Given the description of an element on the screen output the (x, y) to click on. 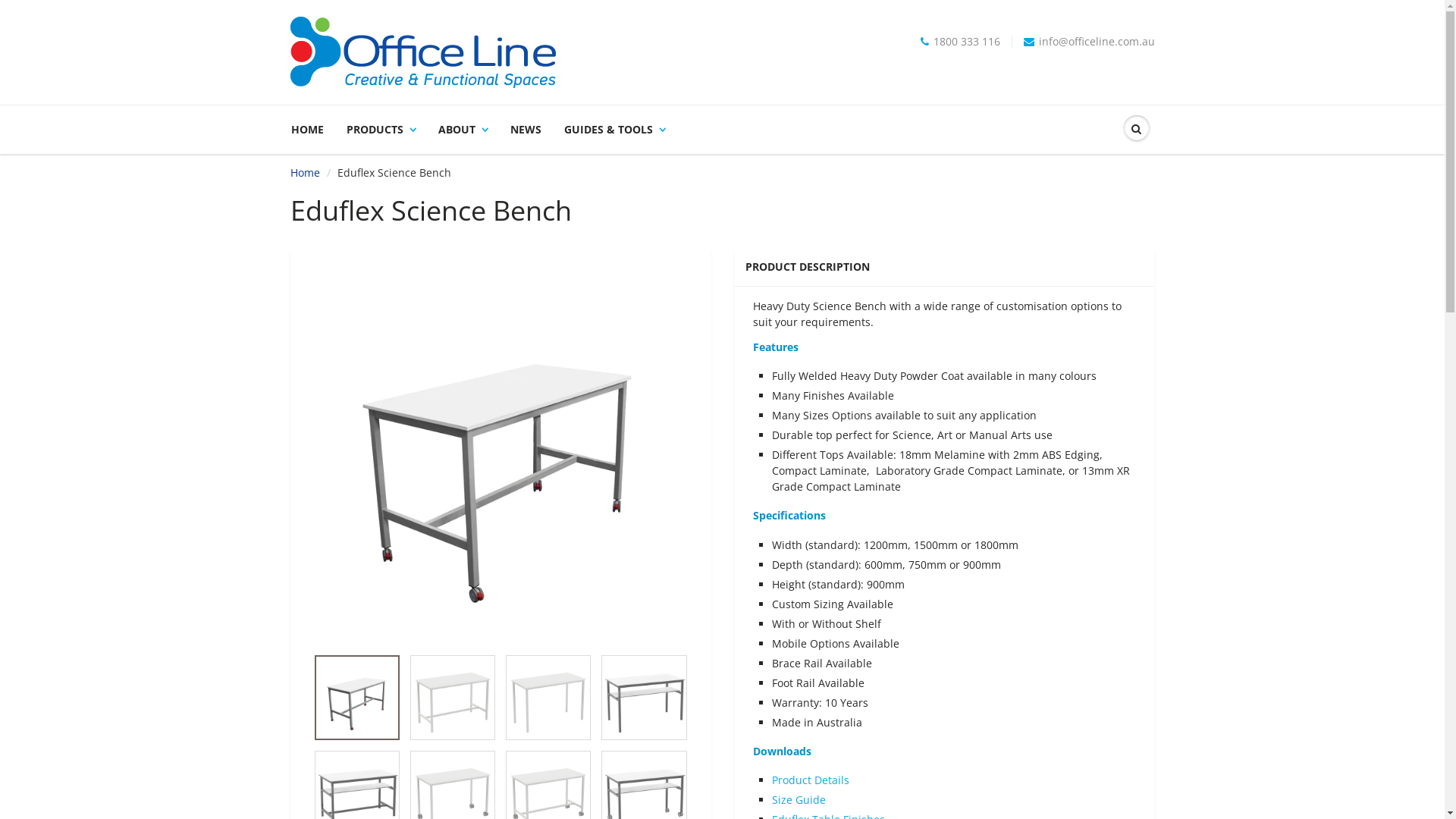
GUIDES & TOOLS Element type: text (613, 129)
Product Details Element type: text (810, 779)
NEWS Element type: text (525, 129)
Eduflex Science Bench Element type: hover (500, 454)
HOME Element type: text (313, 129)
Home Element type: text (304, 172)
Size Guide Element type: text (798, 799)
ABOUT Element type: text (462, 129)
1800 333 116 Element type: text (960, 41)
info@officeline.com.au Element type: text (1088, 41)
PRODUCTS Element type: text (380, 129)
